Given the description of an element on the screen output the (x, y) to click on. 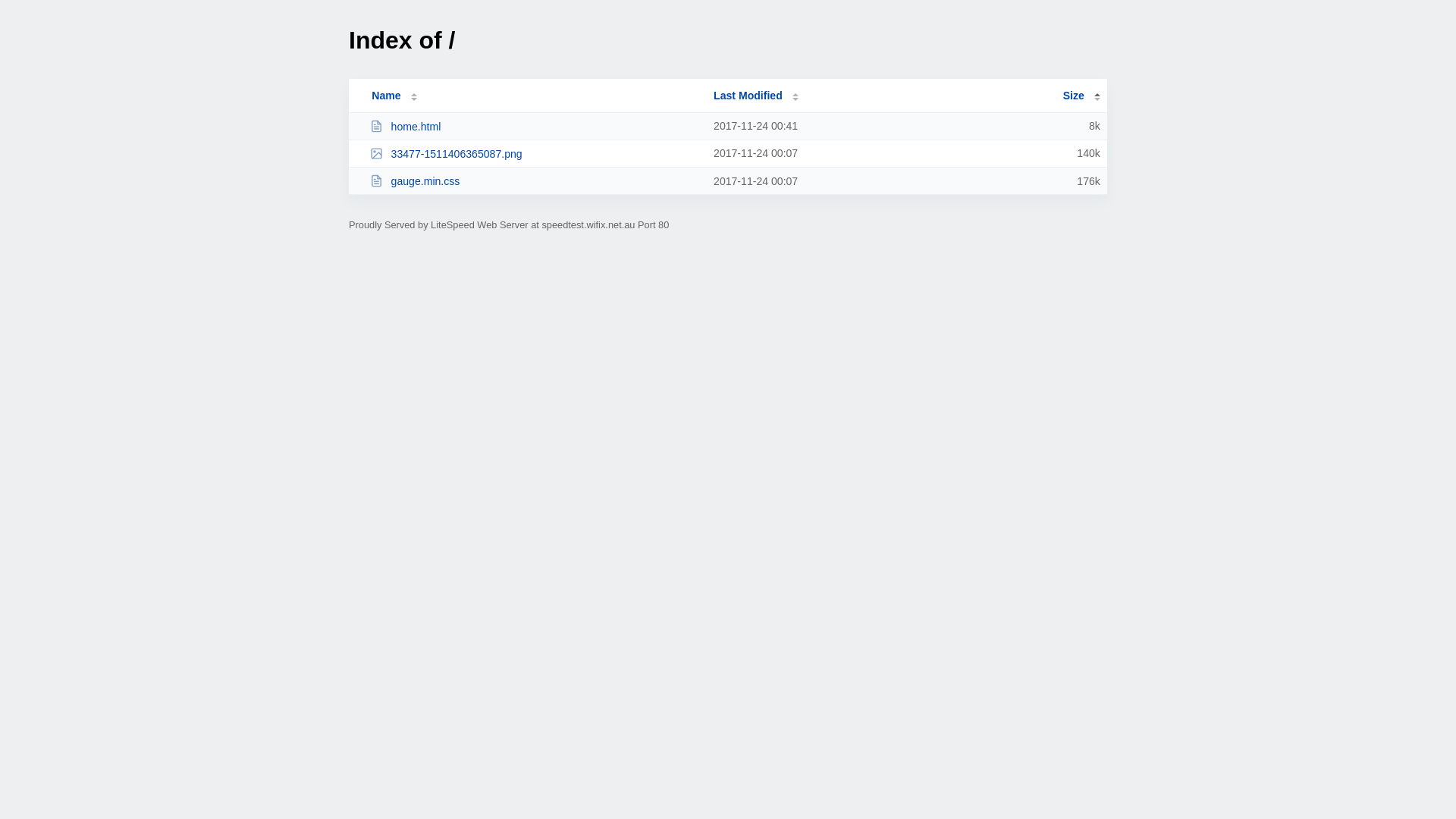
gauge.min.css Element type: text (534, 180)
33477-1511406365087.png Element type: text (534, 153)
Name Element type: text (385, 95)
Size Element type: text (1081, 95)
home.html Element type: text (534, 125)
Last Modified Element type: text (755, 95)
